Given the description of an element on the screen output the (x, y) to click on. 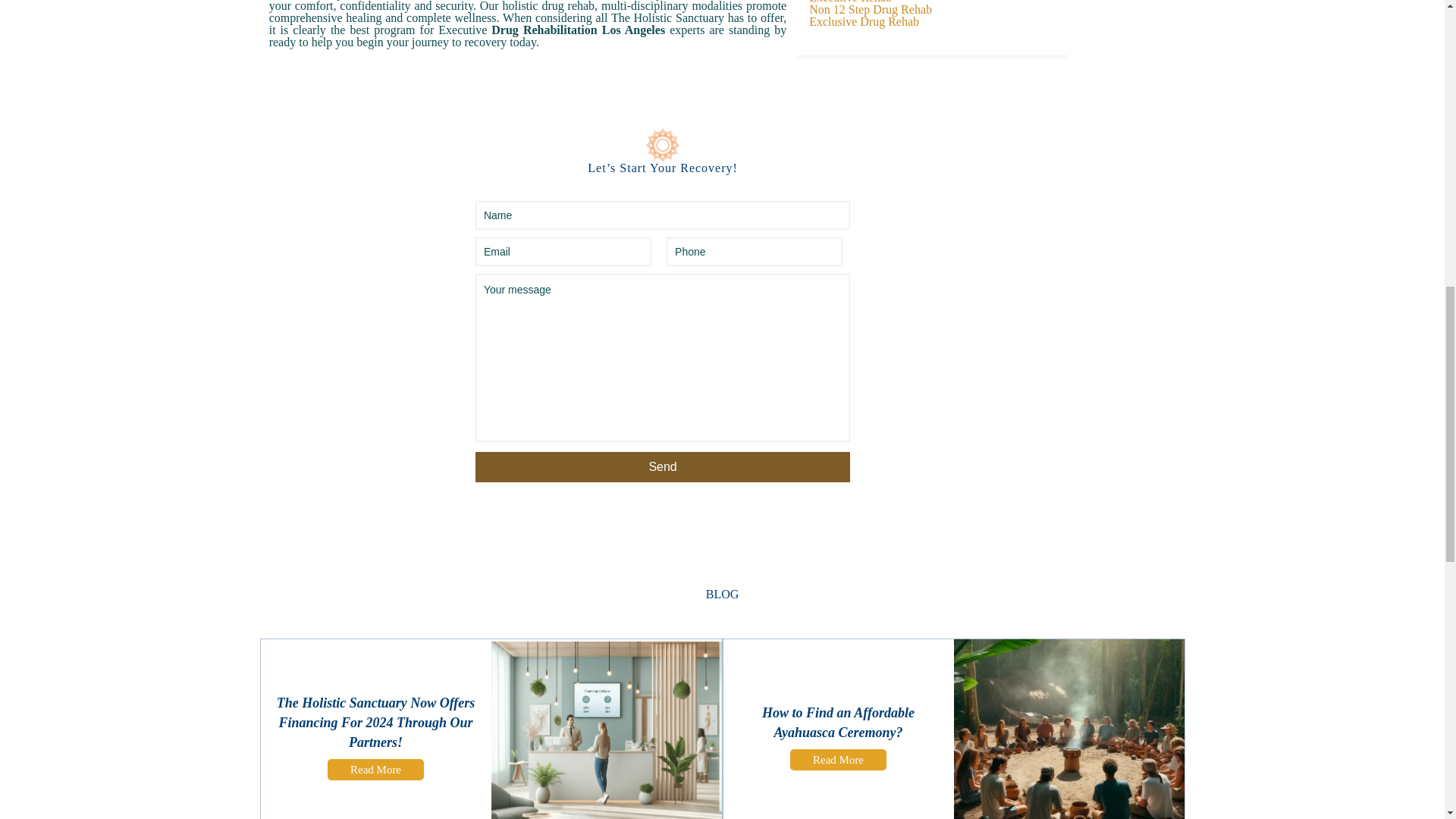
Send (663, 467)
Best Drug Rehabs Los Angeles 1 (662, 144)
